Given the description of an element on the screen output the (x, y) to click on. 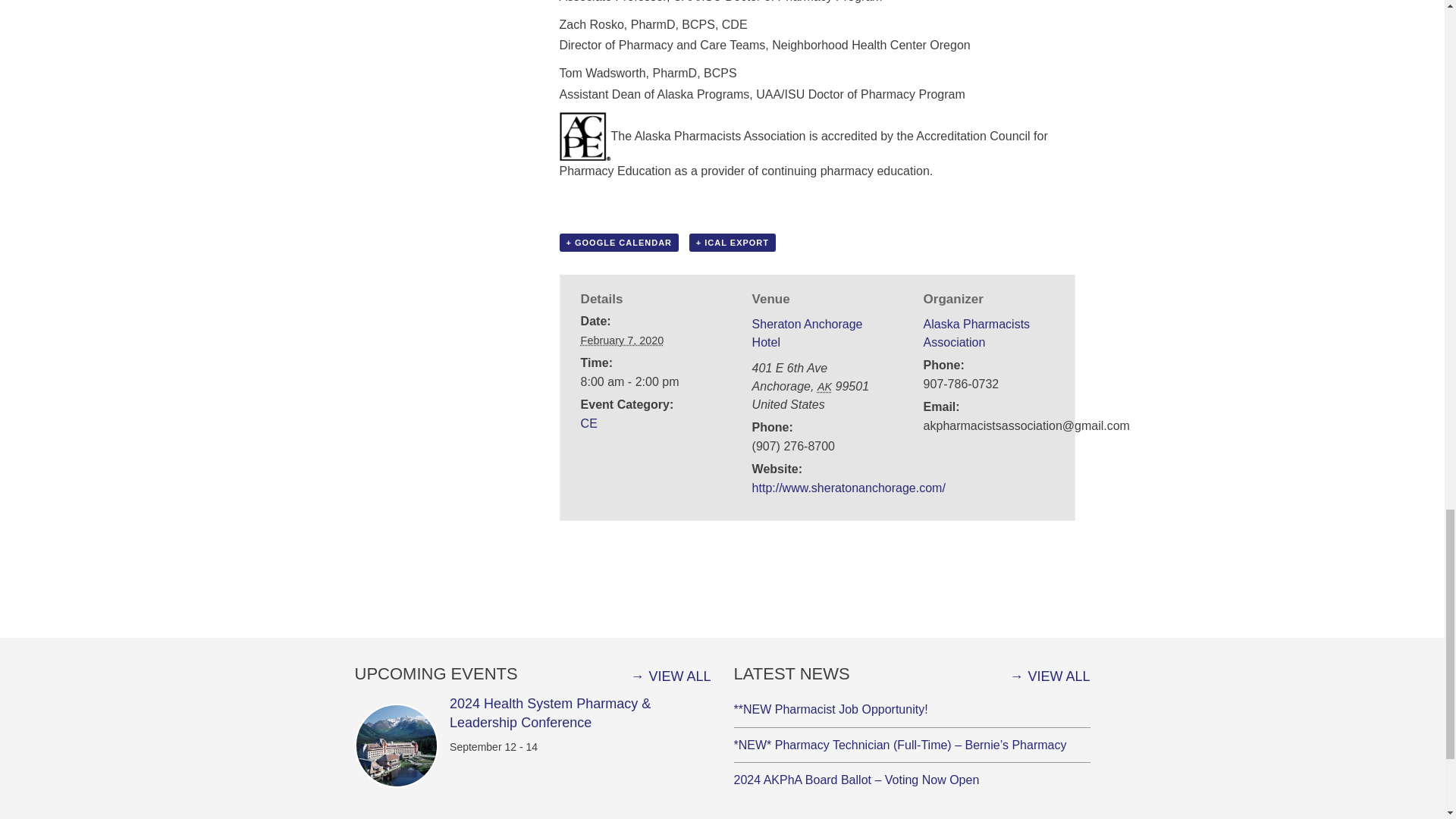
Add to Google Calendar (619, 242)
Alaska Pharmacists Association (976, 332)
CE (588, 422)
Download .ics file (732, 242)
Alaska Pharmacists Association (976, 332)
Alaska (823, 386)
2020-02-07 (621, 340)
Sheraton Anchorage Hotel (807, 332)
2020-02-07 (645, 382)
